Given the description of an element on the screen output the (x, y) to click on. 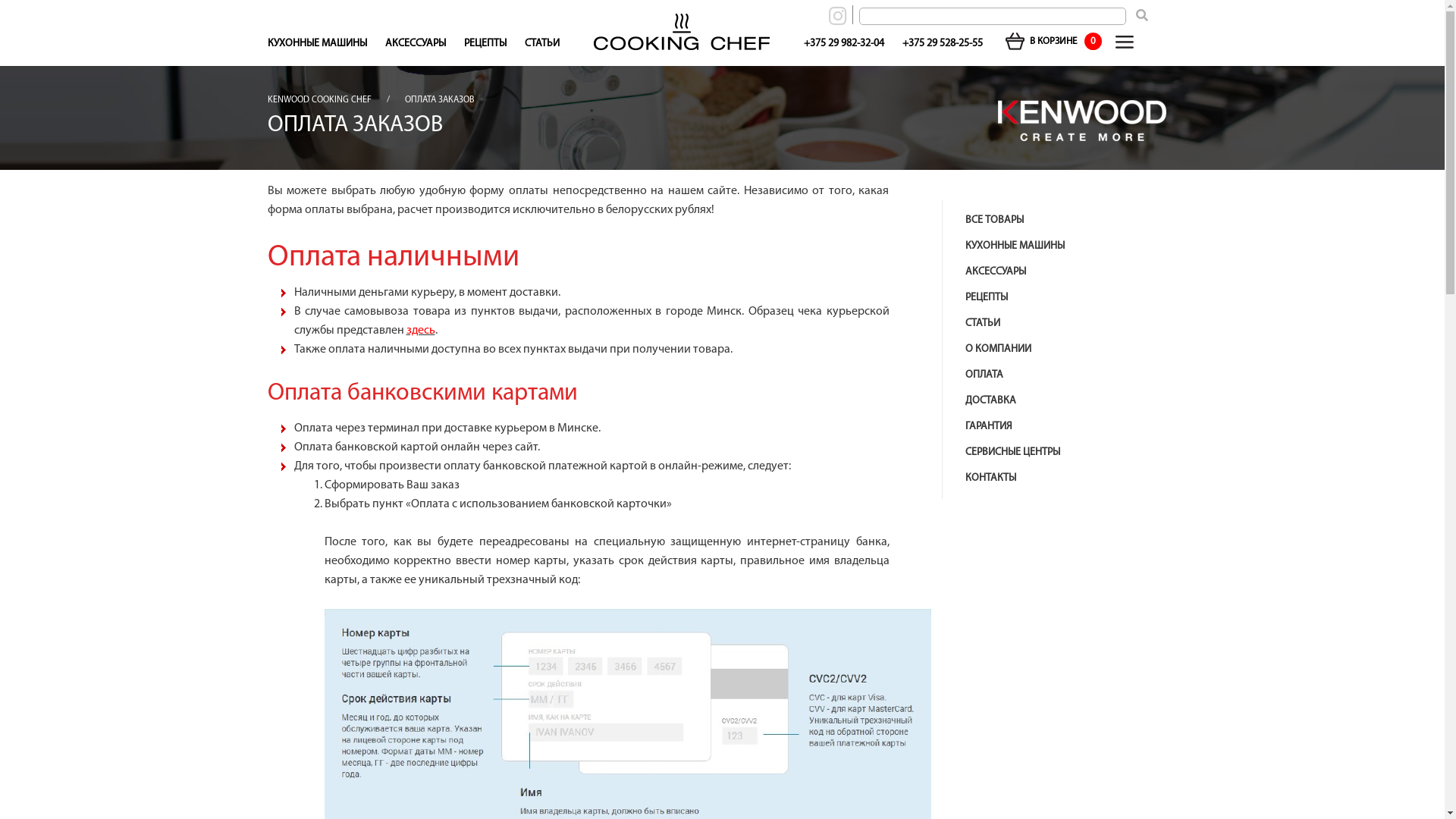
+375 29 982-32-04 Element type: text (843, 43)
KENWOOD COOKING CHEF Element type: text (318, 99)
+375 29 528-25-55 Element type: text (942, 43)
